Given the description of an element on the screen output the (x, y) to click on. 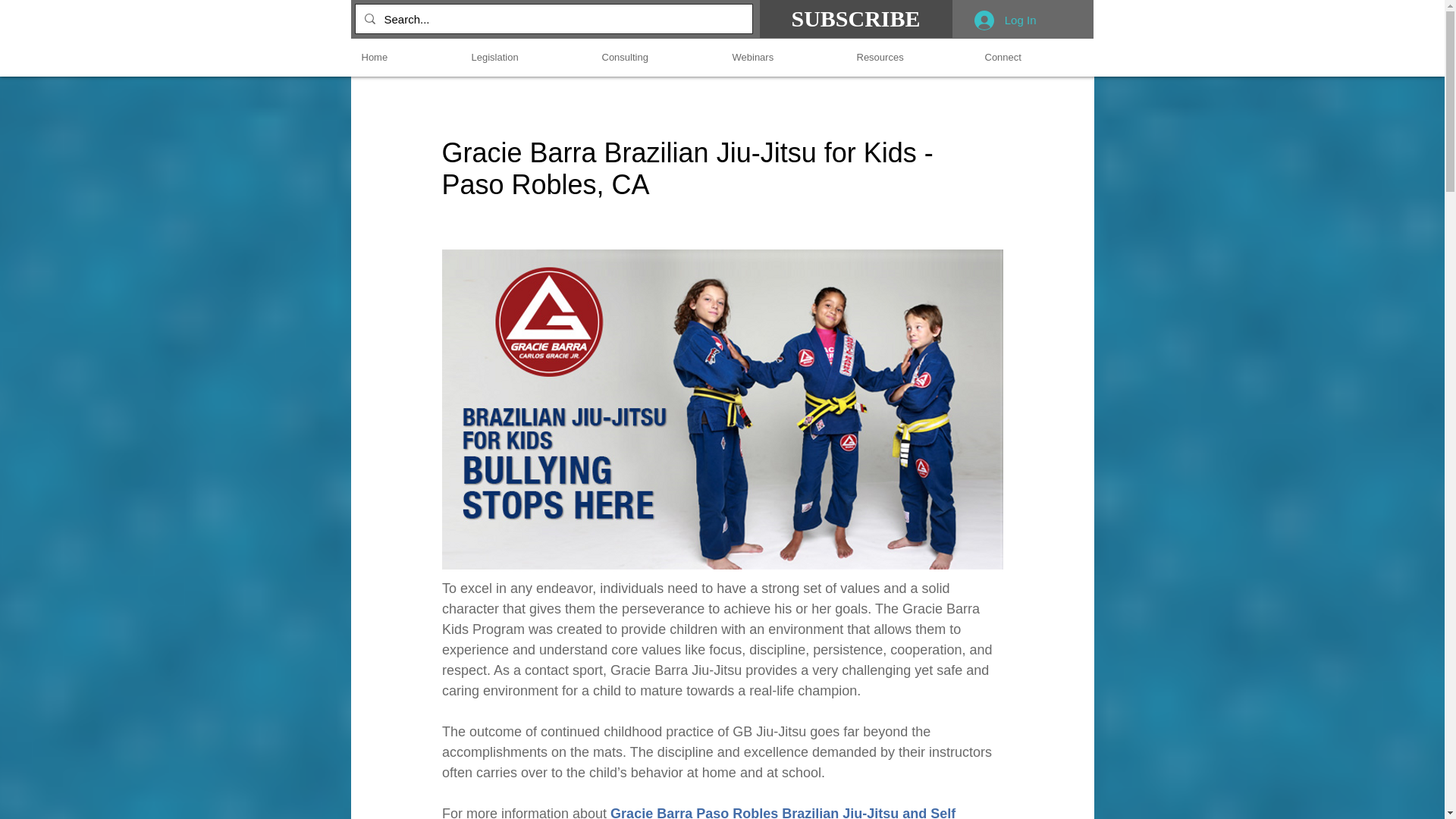
Consulting (654, 57)
Connect (1033, 57)
Home (405, 57)
Log In (1004, 20)
Resources (908, 57)
Webinars (782, 57)
Legislation (524, 57)
SUBSCRIBE (856, 18)
